Given the description of an element on the screen output the (x, y) to click on. 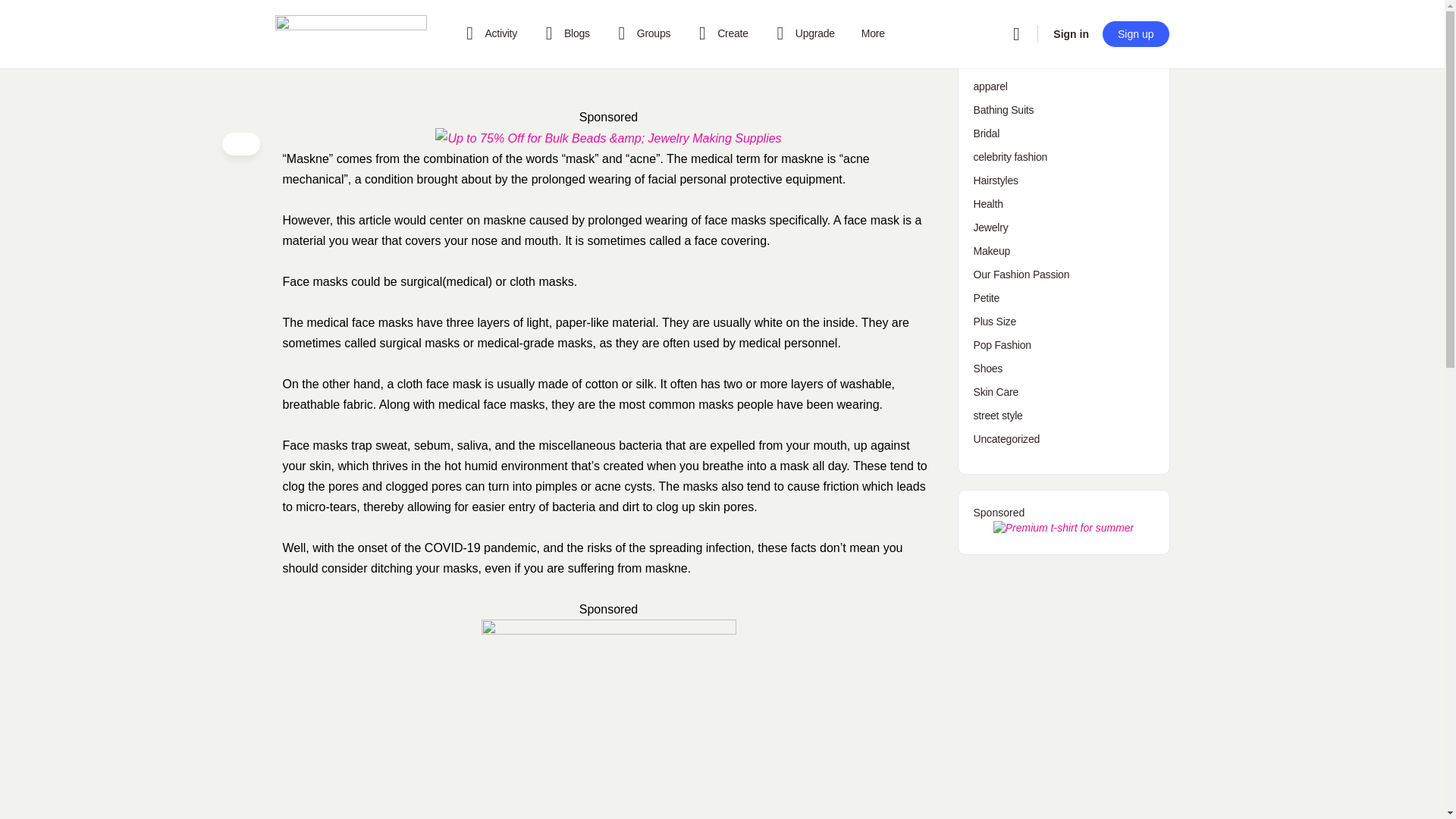
Blogs (564, 33)
Groups (641, 33)
Activity (488, 33)
Sign up (1135, 33)
Upgrade (802, 33)
Create (720, 33)
Sign in (1070, 33)
